Given the description of an element on the screen output the (x, y) to click on. 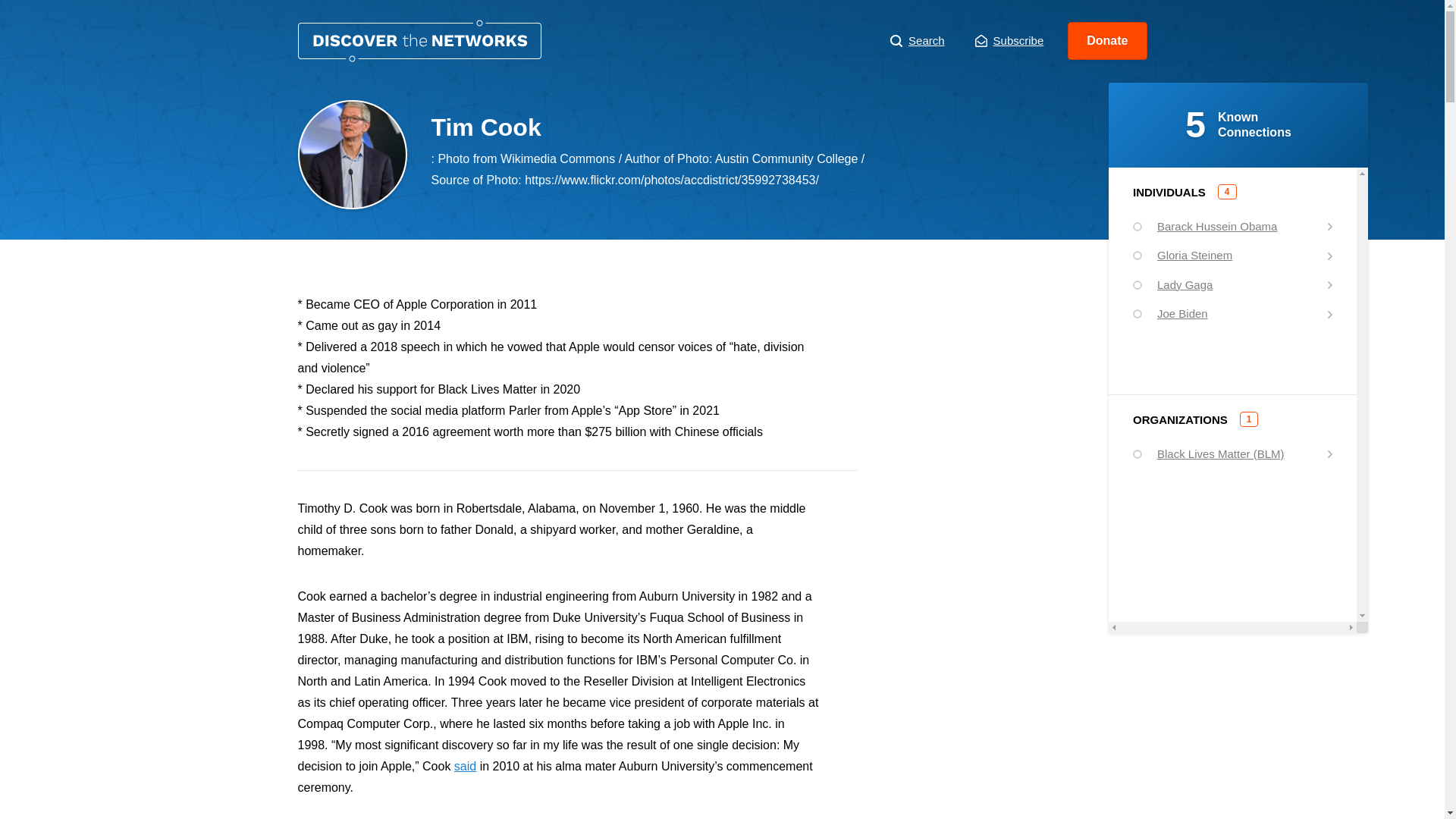
Tim Cook (418, 40)
Donate (1107, 40)
Search (916, 40)
Subscribe (1009, 40)
said (465, 766)
